Given the description of an element on the screen output the (x, y) to click on. 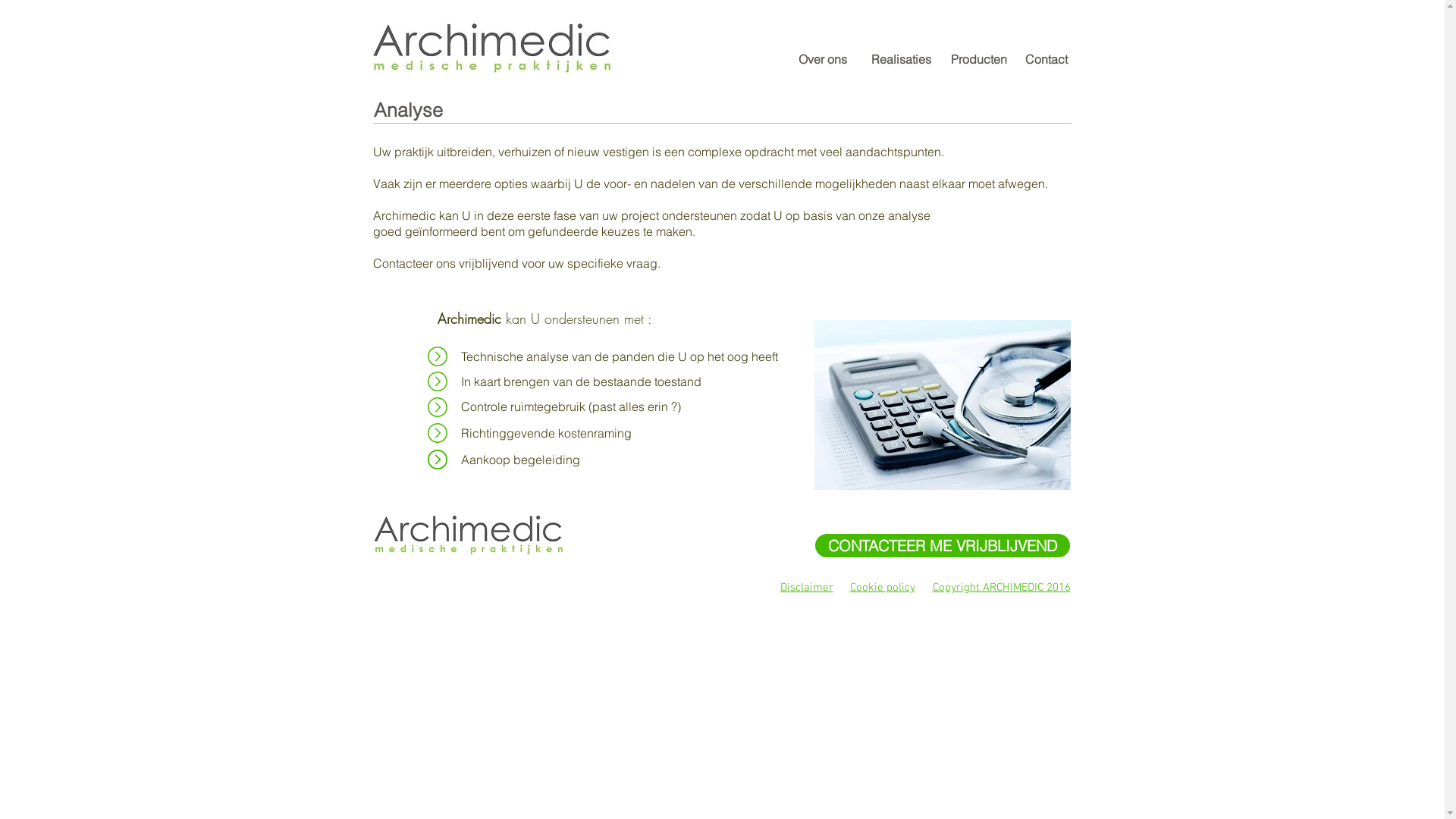
Disclaimer Element type: text (805, 587)
CONTACTEER ME VRIJBLIJVEND Element type: text (941, 545)
Cookie policy Element type: text (881, 587)
Producten Element type: text (978, 59)
Over ons Element type: text (822, 59)
Contact Element type: text (1046, 59)
Realisaties Element type: text (901, 59)
Copyright ARCHIMEDIC 2016 Element type: text (1001, 587)
